Given the description of an element on the screen output the (x, y) to click on. 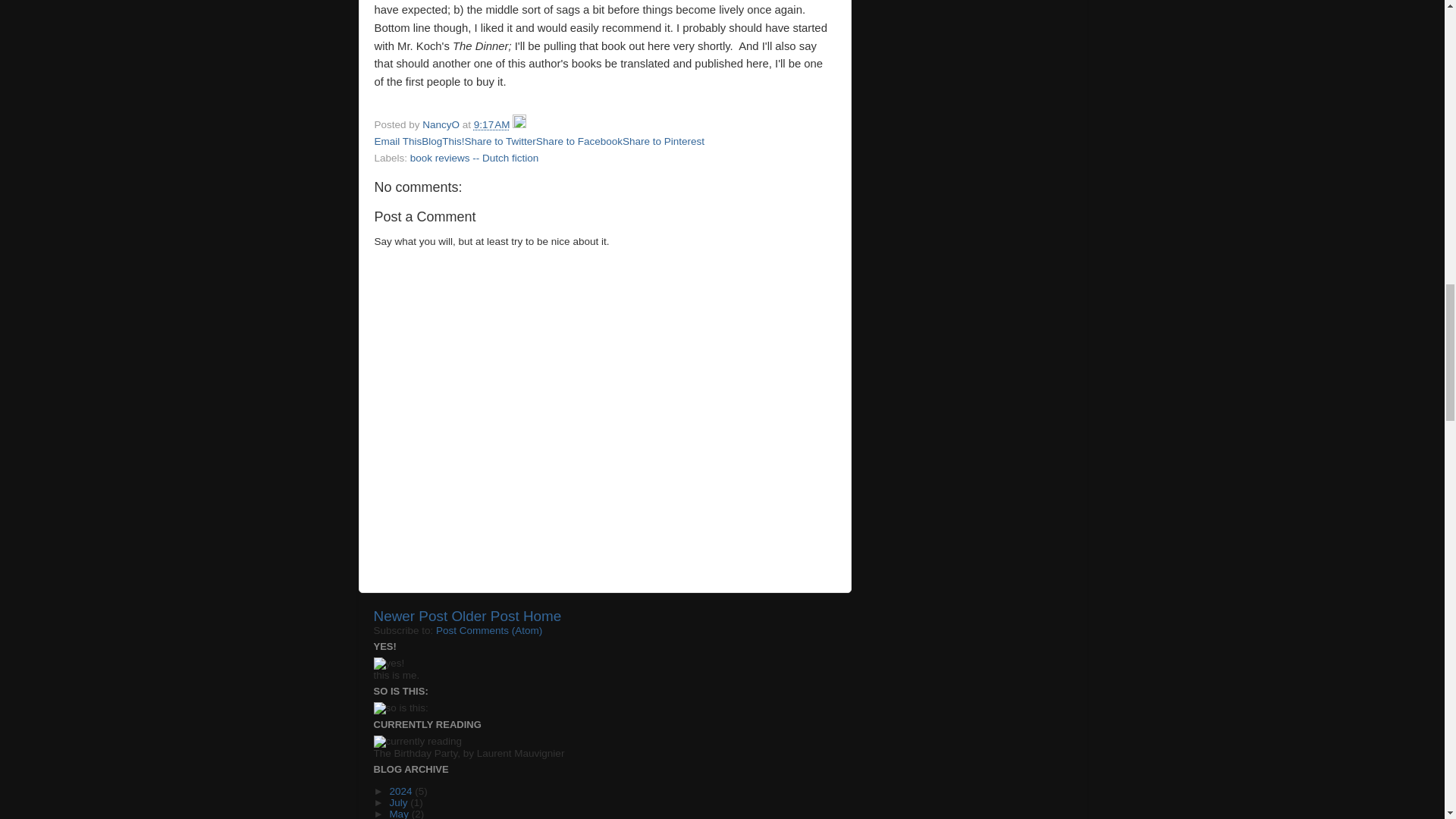
July (399, 802)
Edit Post (518, 124)
Home (541, 616)
BlogThis! (443, 141)
Email This (398, 141)
Share to Facebook (579, 141)
BlogThis! (443, 141)
Share to Facebook (579, 141)
Email This (398, 141)
author profile (442, 124)
NancyO (442, 124)
May (399, 813)
Older Post (484, 616)
Share to Pinterest (663, 141)
